Given the description of an element on the screen output the (x, y) to click on. 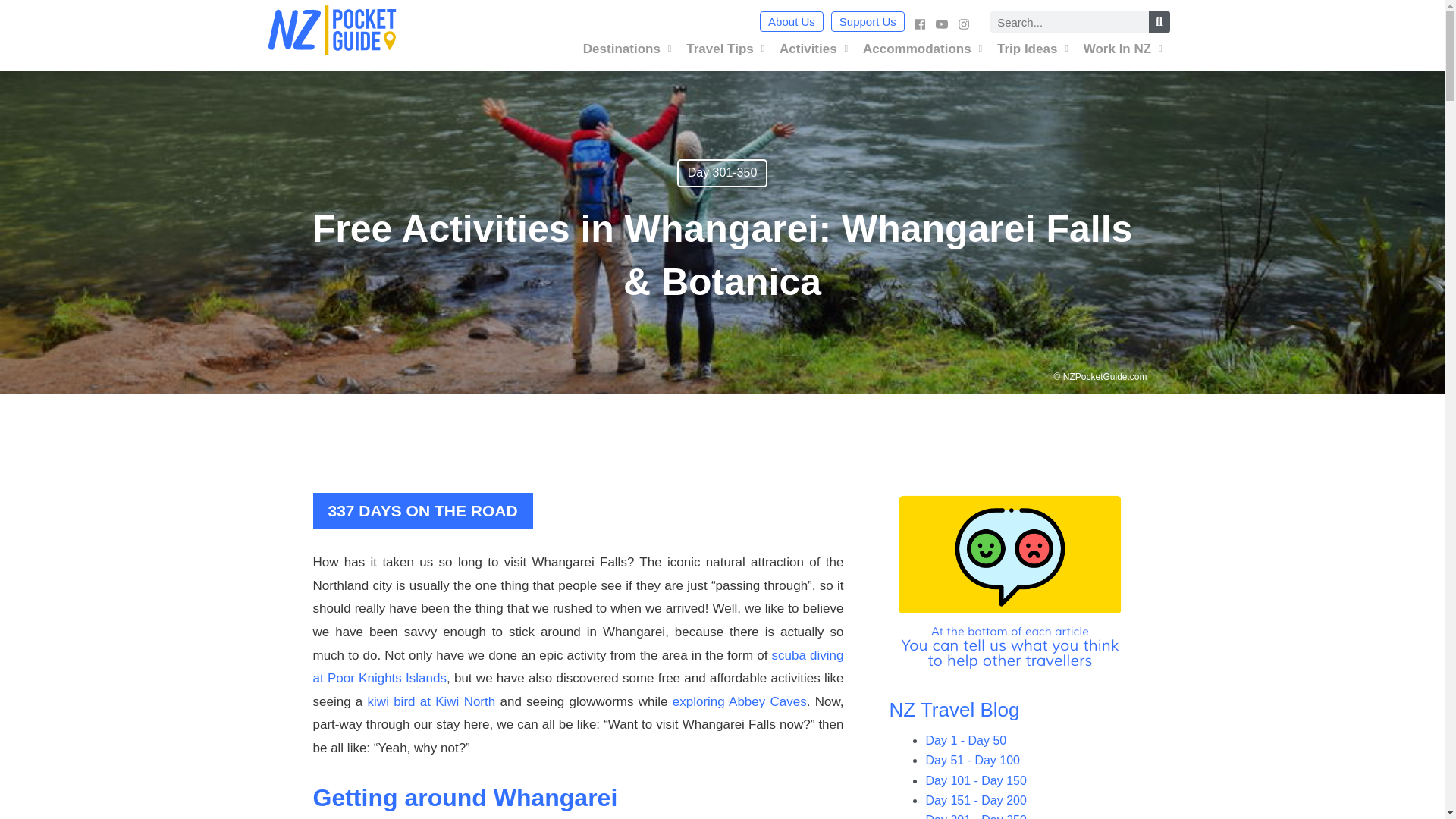
Search (1158, 21)
About Us (792, 21)
Destinations (627, 48)
Support Us (867, 21)
